Given the description of an element on the screen output the (x, y) to click on. 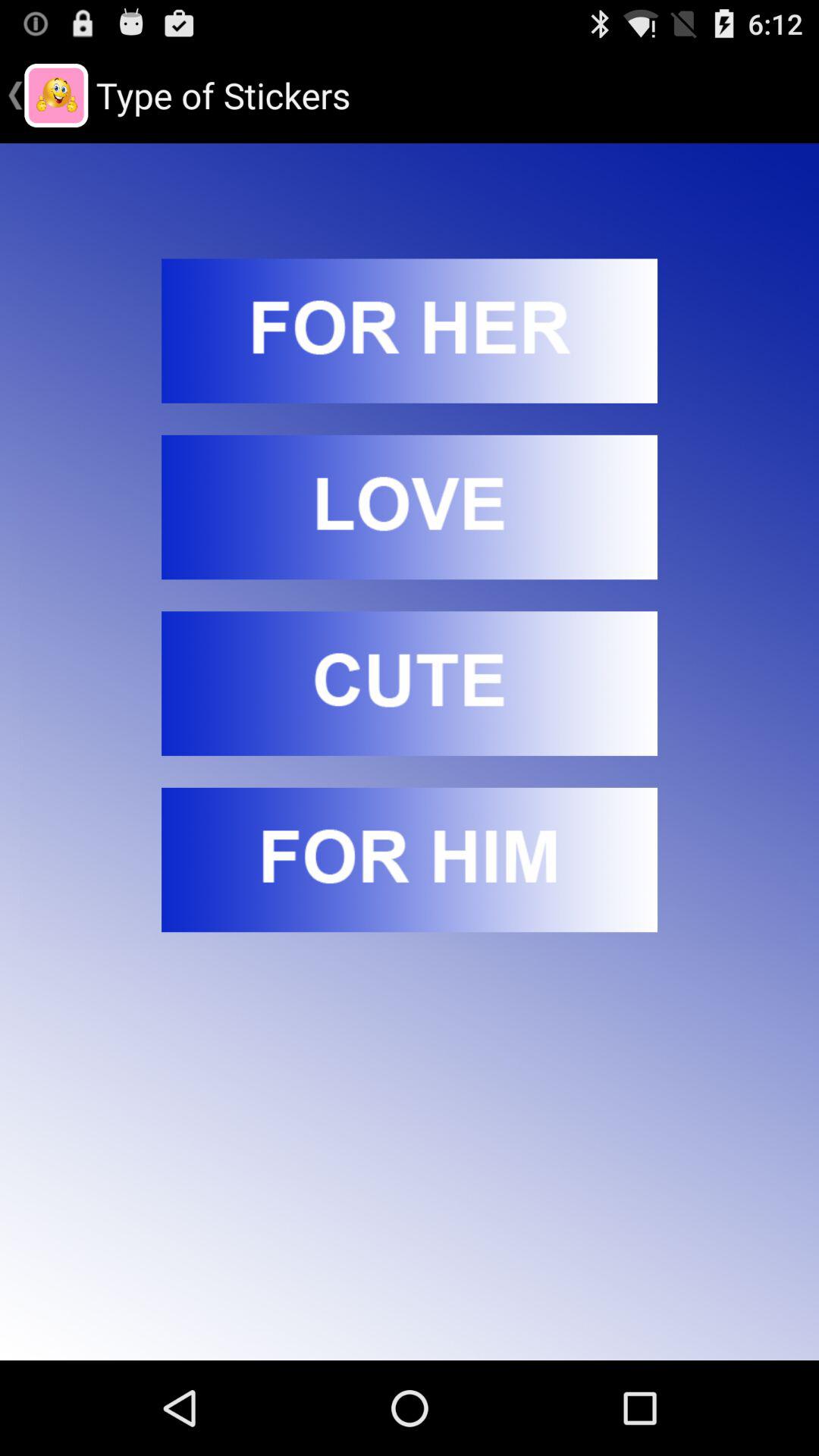
view cute stickers (409, 683)
